Given the description of an element on the screen output the (x, y) to click on. 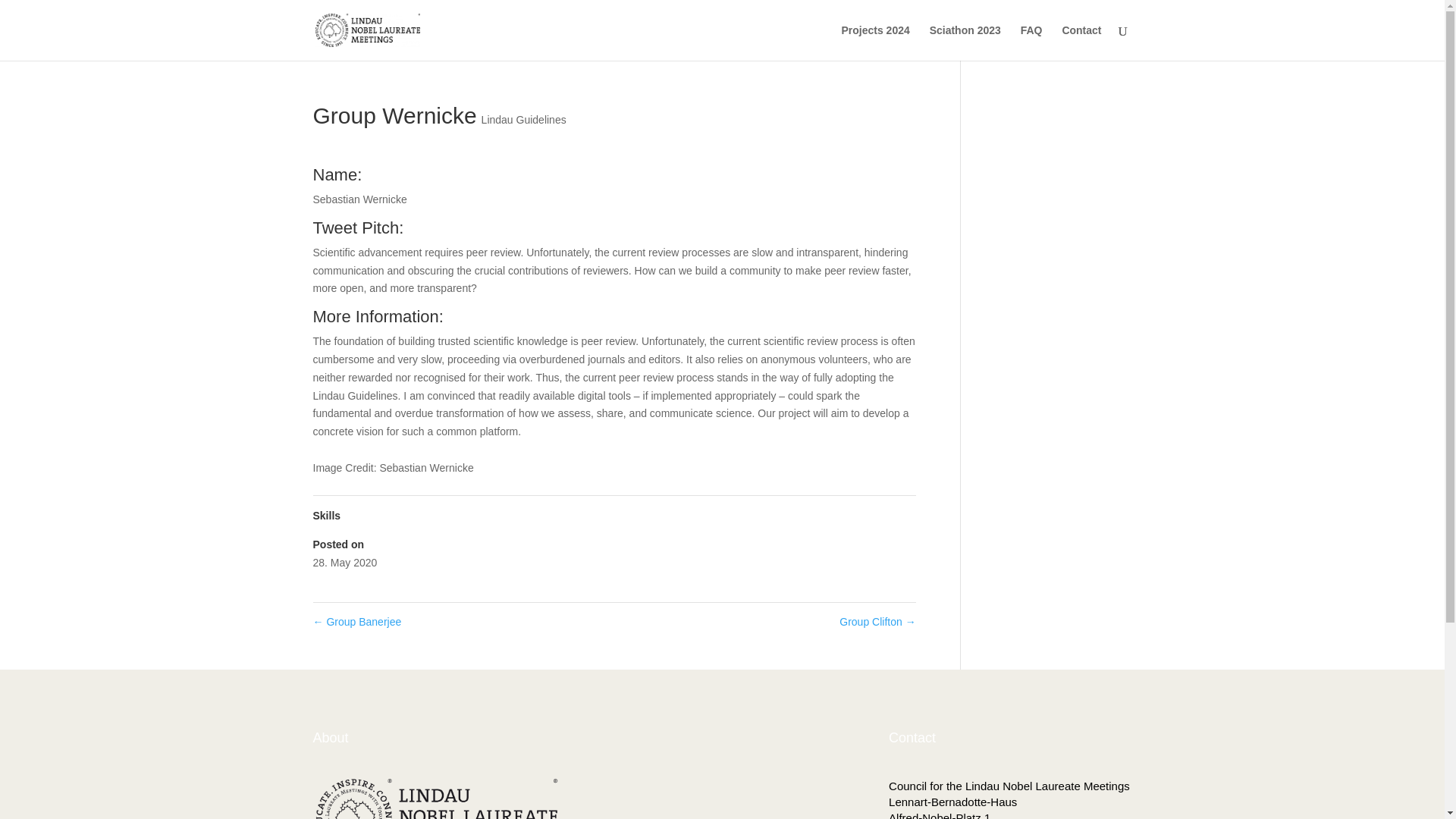
LNLM Logo Komplett Schwarz Transparenter Hintergrund (436, 798)
Projects 2024 (874, 42)
Sciathon 2023 (965, 42)
Contact (1080, 42)
Lindau Guidelines (523, 119)
